Given the description of an element on the screen output the (x, y) to click on. 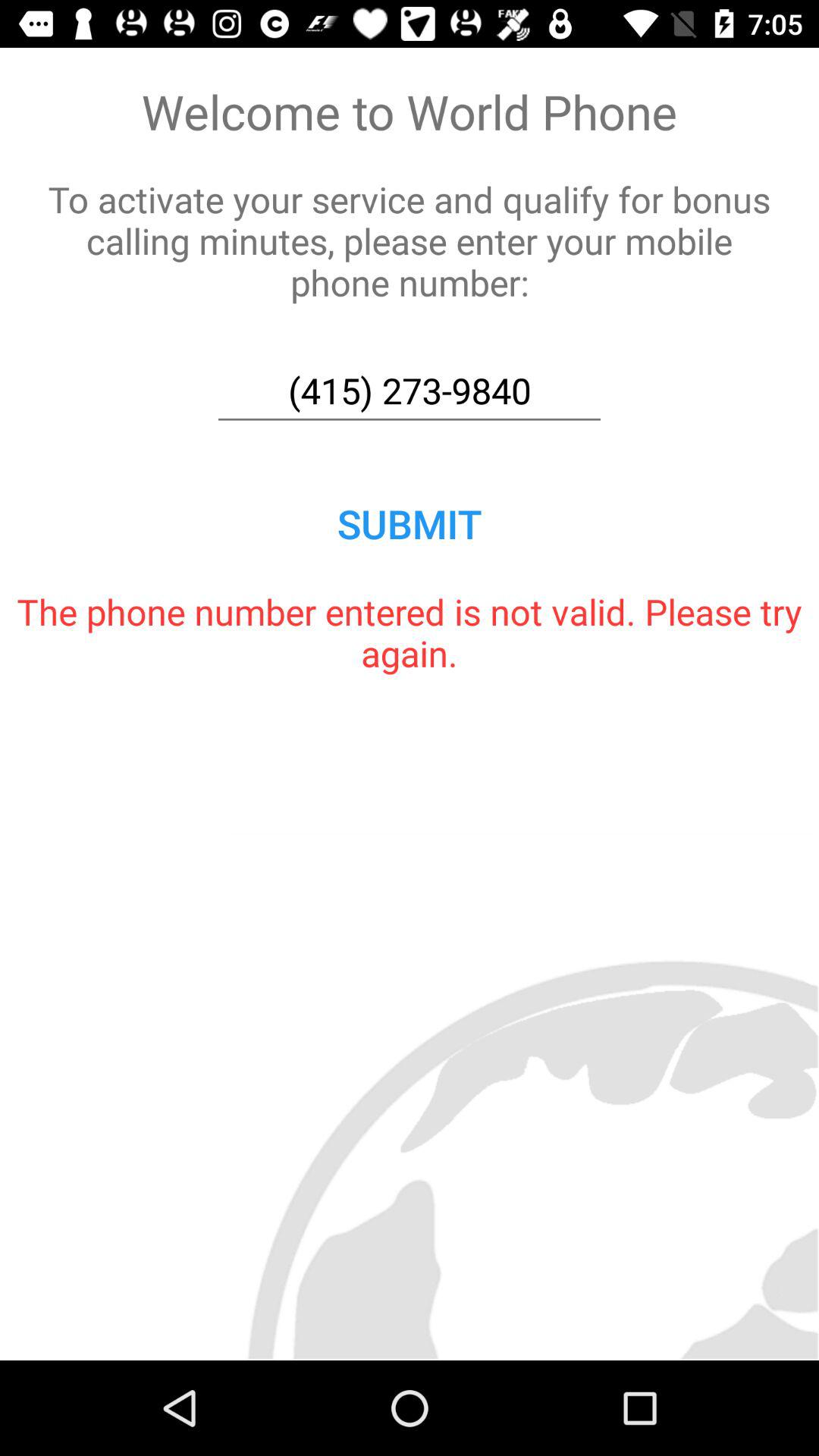
choose the item below (415) 273-9840 icon (409, 523)
